Given the description of an element on the screen output the (x, y) to click on. 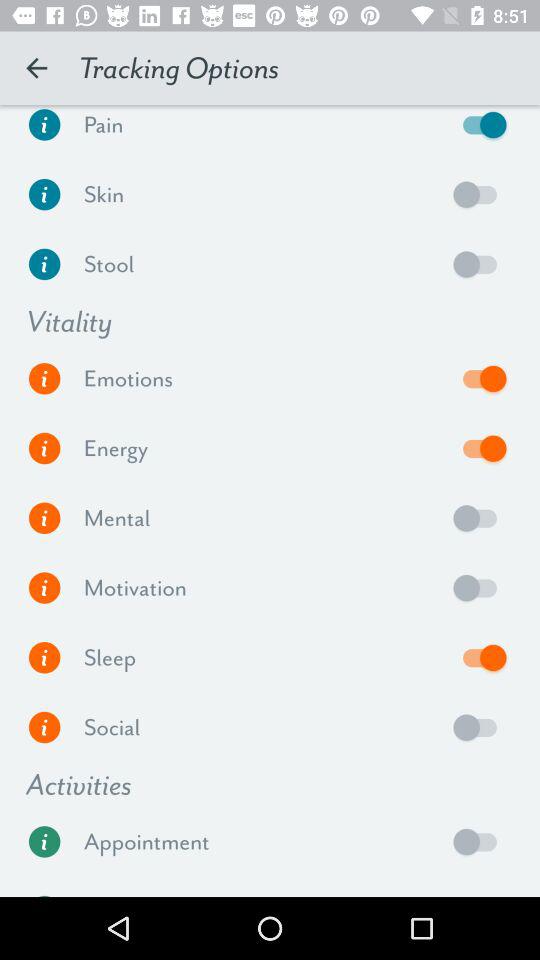
toggle emotions option (479, 378)
